Given the description of an element on the screen output the (x, y) to click on. 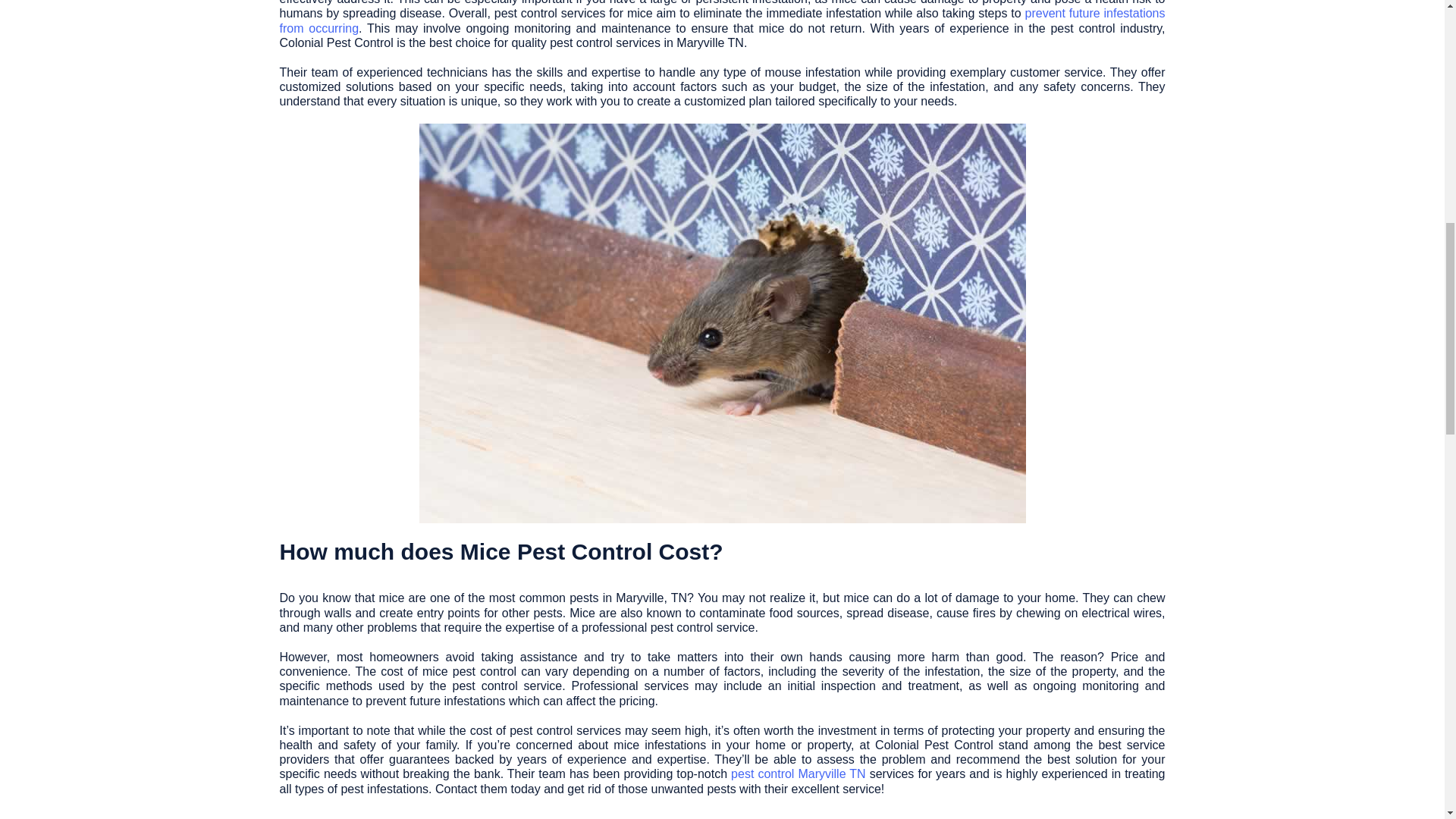
prevent future infestations from occurring (721, 20)
pest control Maryville TN (798, 773)
